Given the description of an element on the screen output the (x, y) to click on. 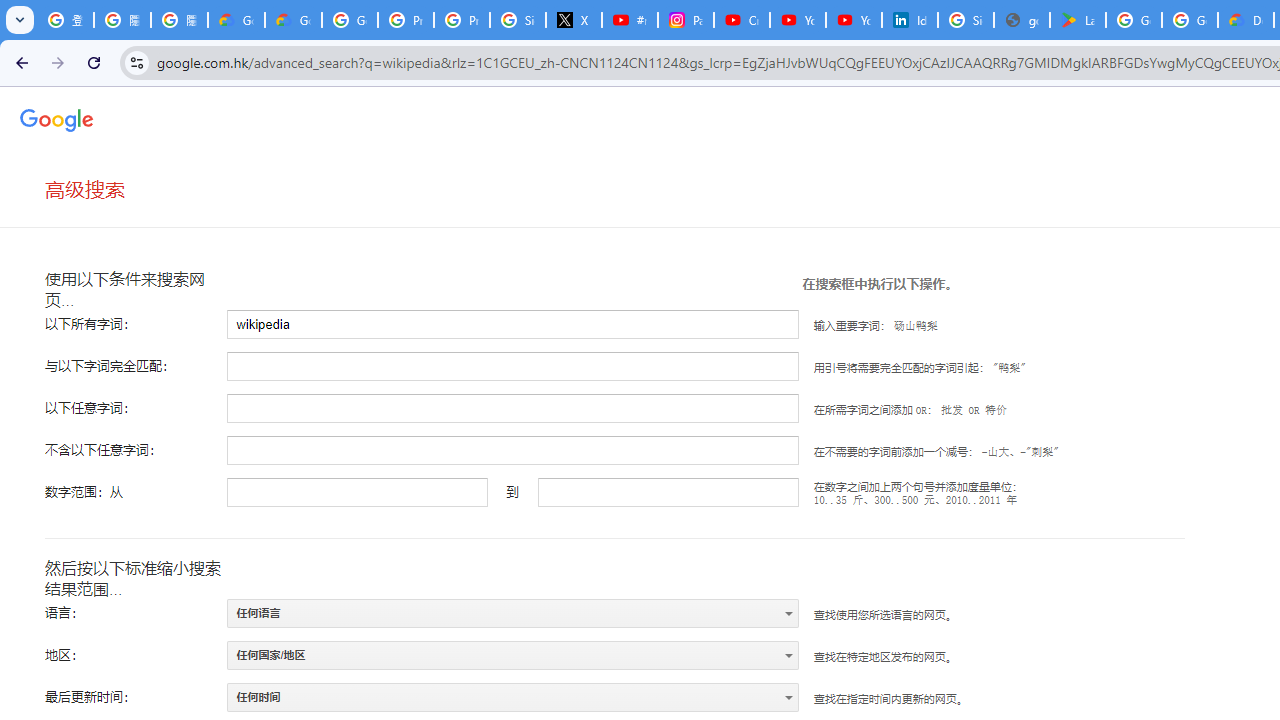
YouTube Culture & Trends - YouTube Top 10, 2021 (853, 20)
Last Shelter: Survival - Apps on Google Play (1077, 20)
